Given the description of an element on the screen output the (x, y) to click on. 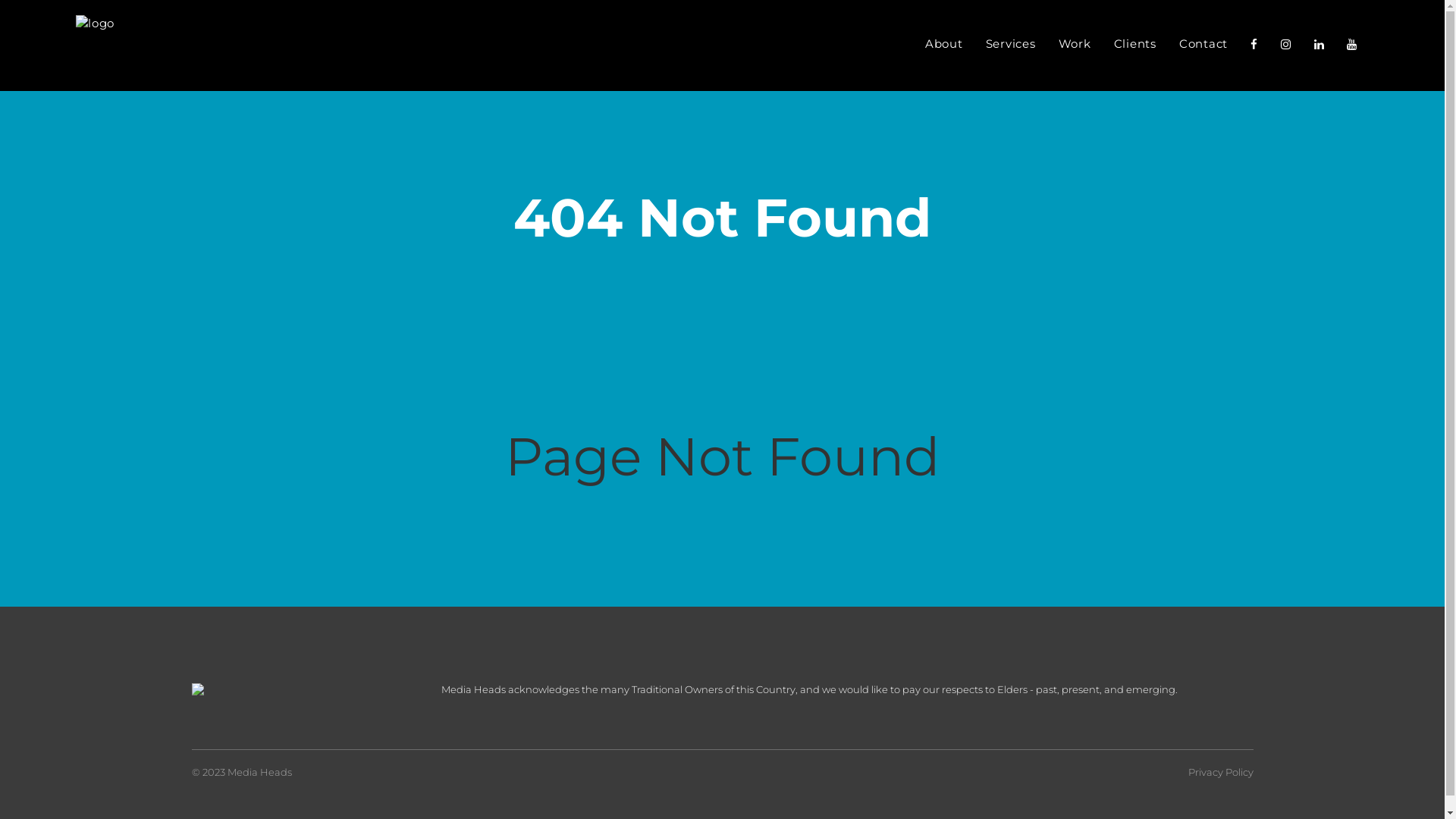
Services Element type: text (1009, 45)
About Element type: text (943, 45)
Work Element type: text (1073, 45)
Privacy Policy Element type: text (1219, 771)
Clients Element type: text (1134, 45)
Contact Element type: text (1203, 45)
